Given the description of an element on the screen output the (x, y) to click on. 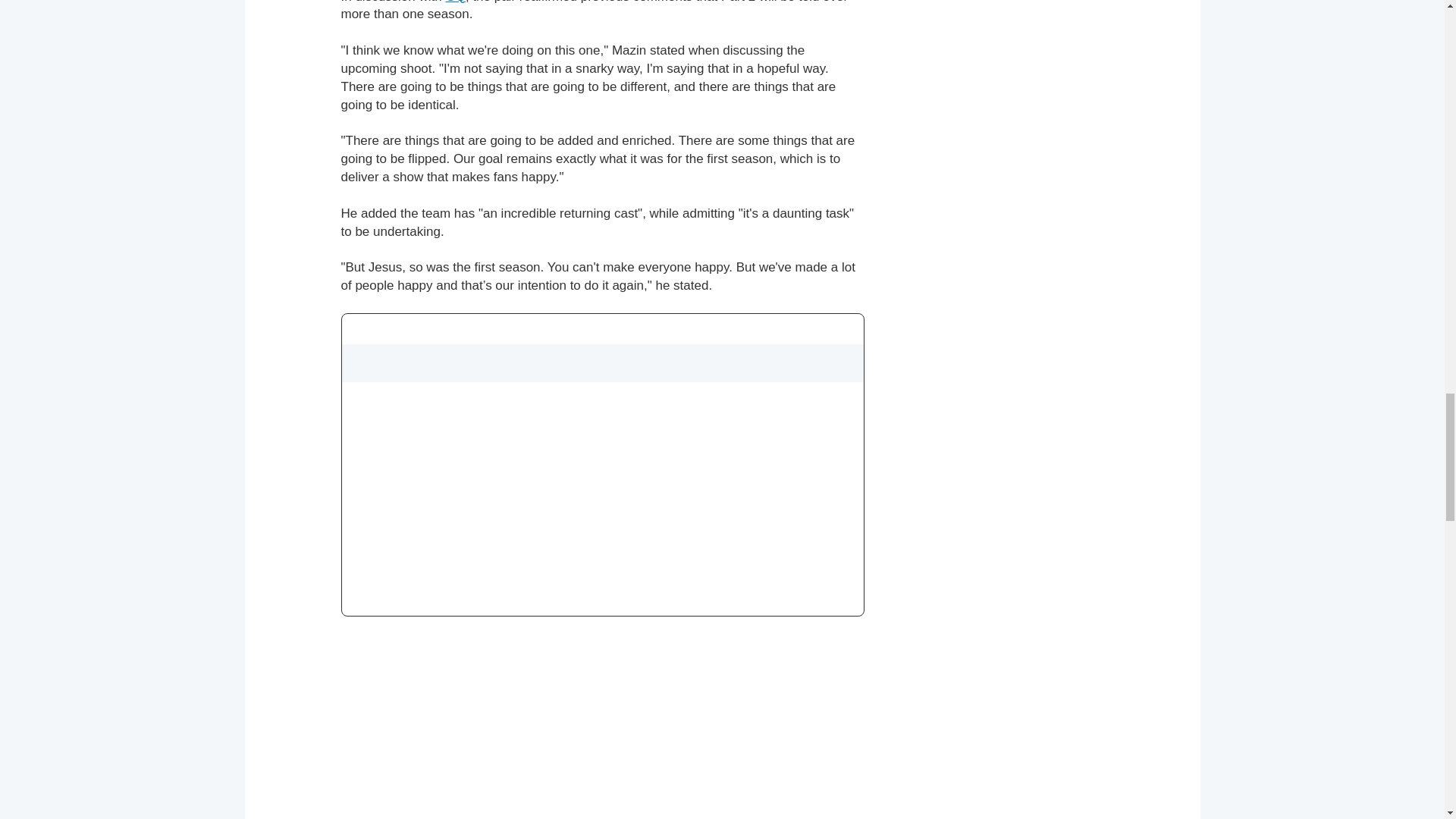
GQ (454, 2)
